Given the description of an element on the screen output the (x, y) to click on. 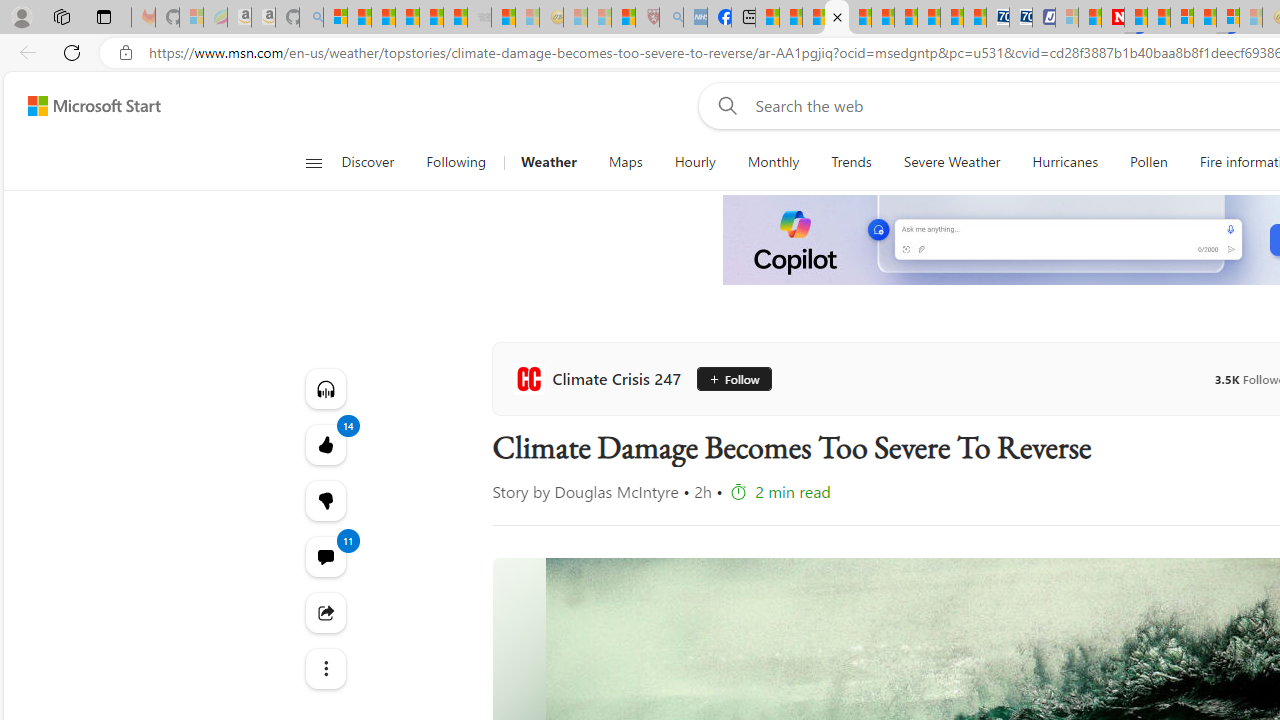
Latest Politics News & Archive | Newsweek.com (1112, 17)
Hurricanes (1065, 162)
